Given the description of an element on the screen output the (x, y) to click on. 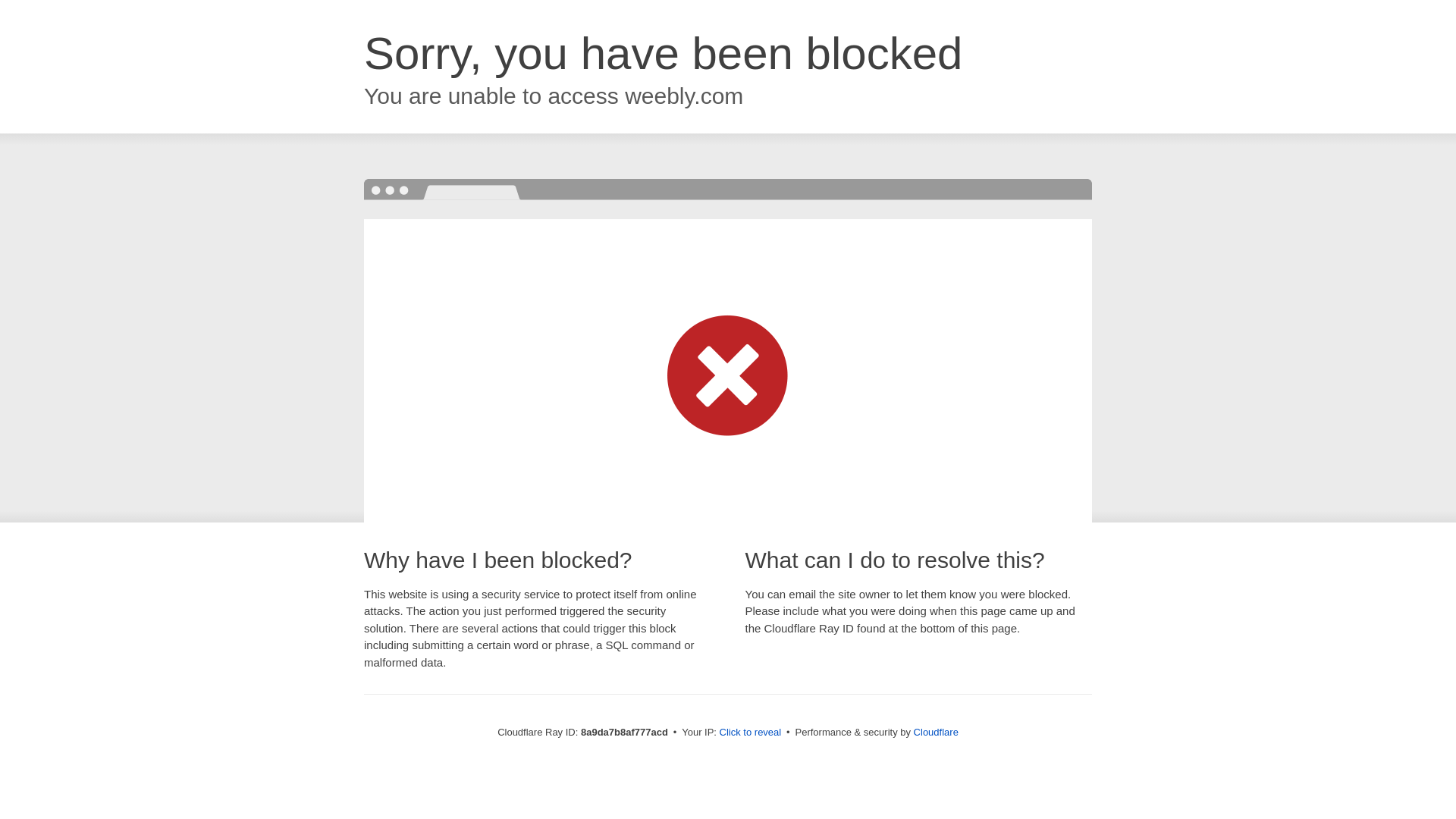
Cloudflare (936, 731)
Click to reveal (750, 732)
